Given the description of an element on the screen output the (x, y) to click on. 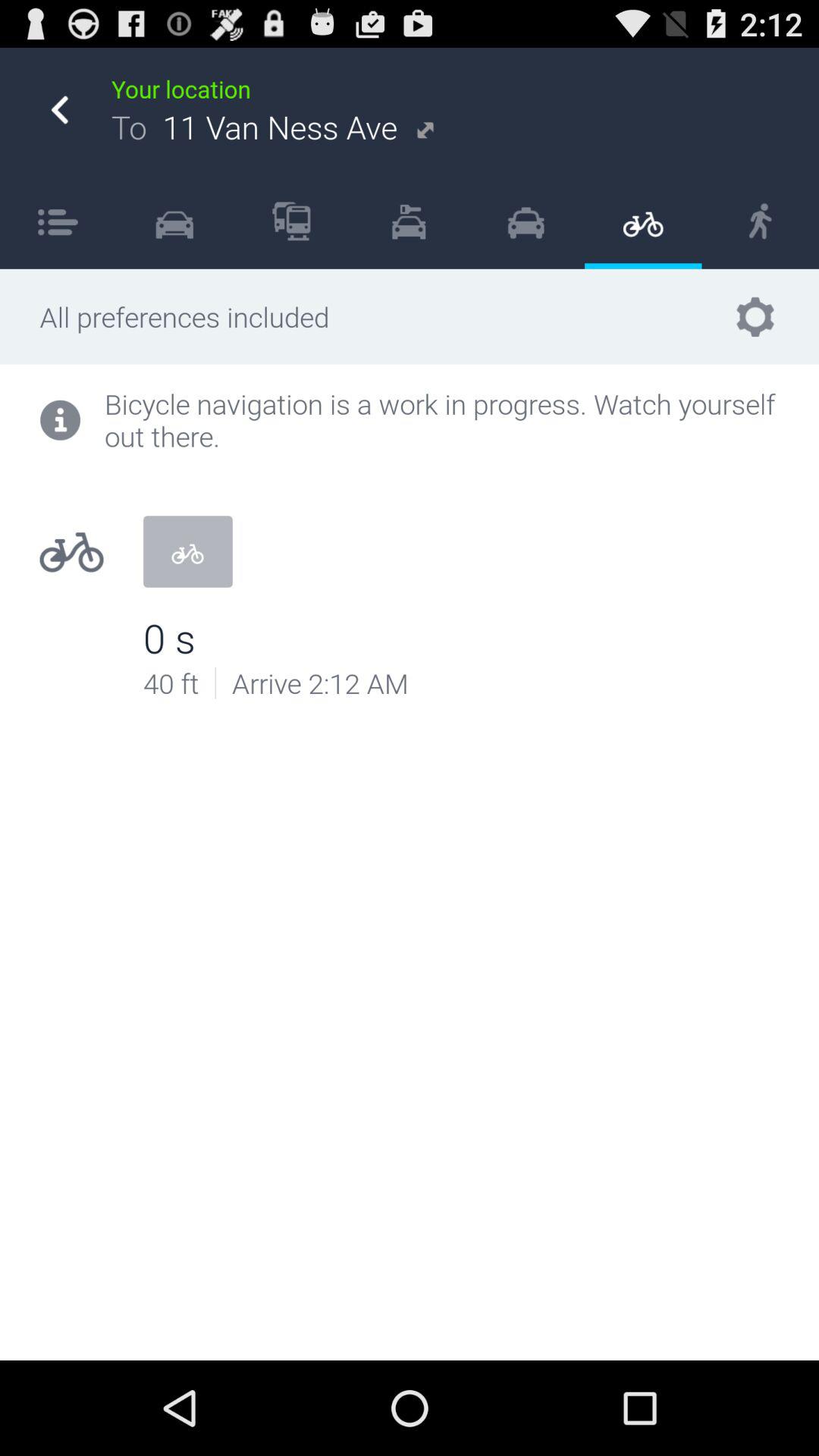
launch the icon next to the 40 ft item (215, 682)
